Given the description of an element on the screen output the (x, y) to click on. 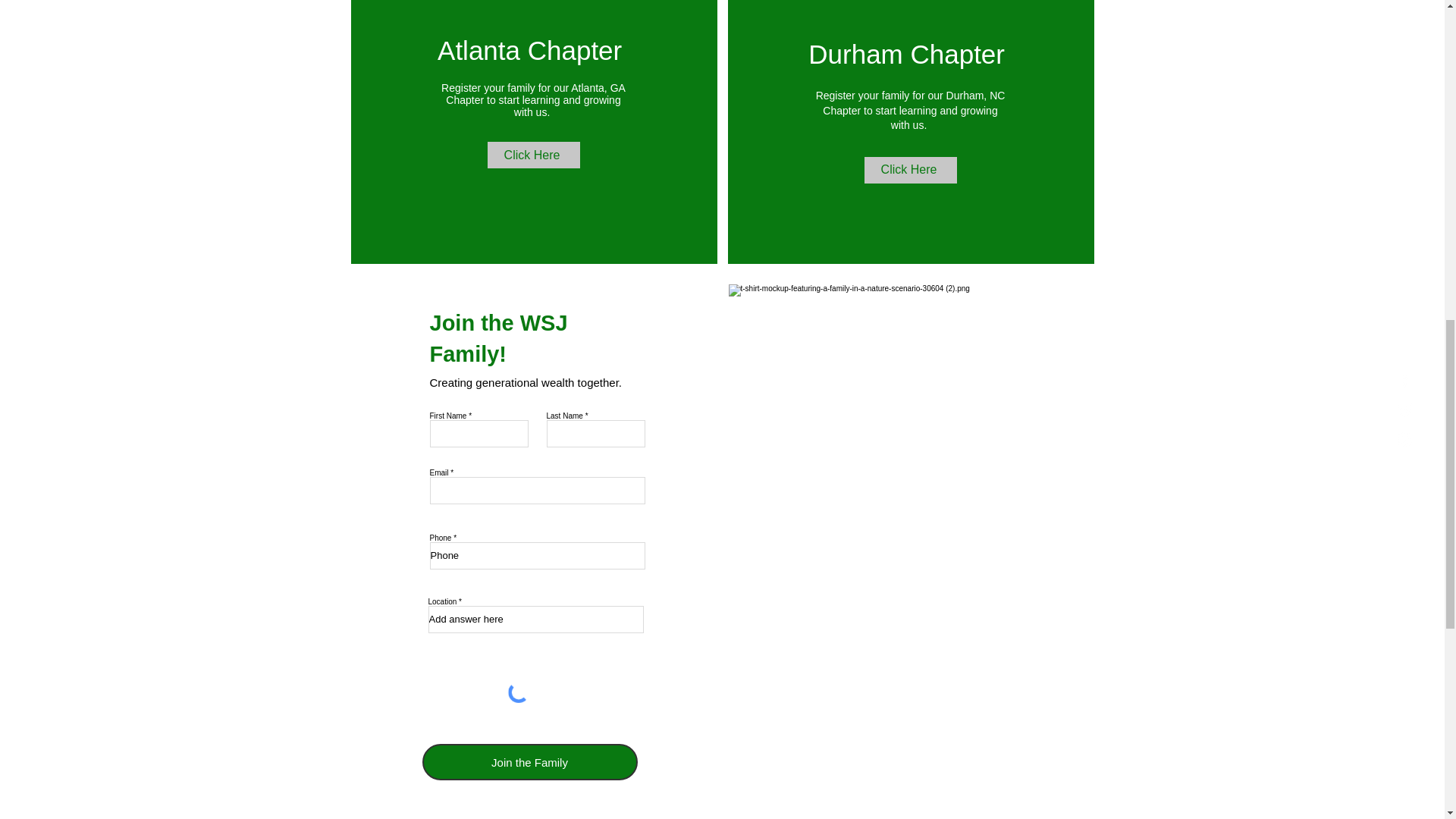
Click Here (910, 170)
Click Here (532, 154)
Join the Family (529, 761)
